Given the description of an element on the screen output the (x, y) to click on. 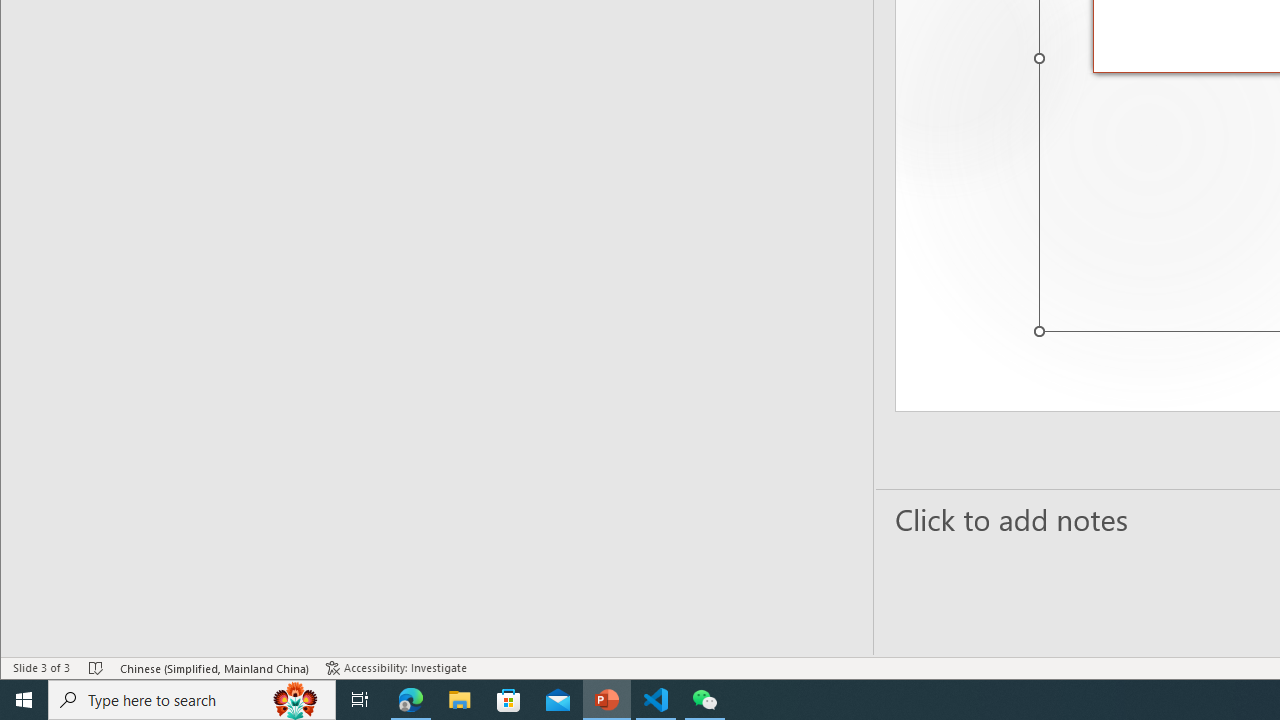
WeChat - 1 running window (704, 699)
PowerPoint - 1 running window (607, 699)
Search highlights icon opens search home window (295, 699)
File Explorer (460, 699)
Start (24, 699)
Task View (359, 699)
Type here to search (191, 699)
Visual Studio Code - 1 running window (656, 699)
Microsoft Store (509, 699)
Microsoft Edge - 1 running window (411, 699)
